Given the description of an element on the screen output the (x, y) to click on. 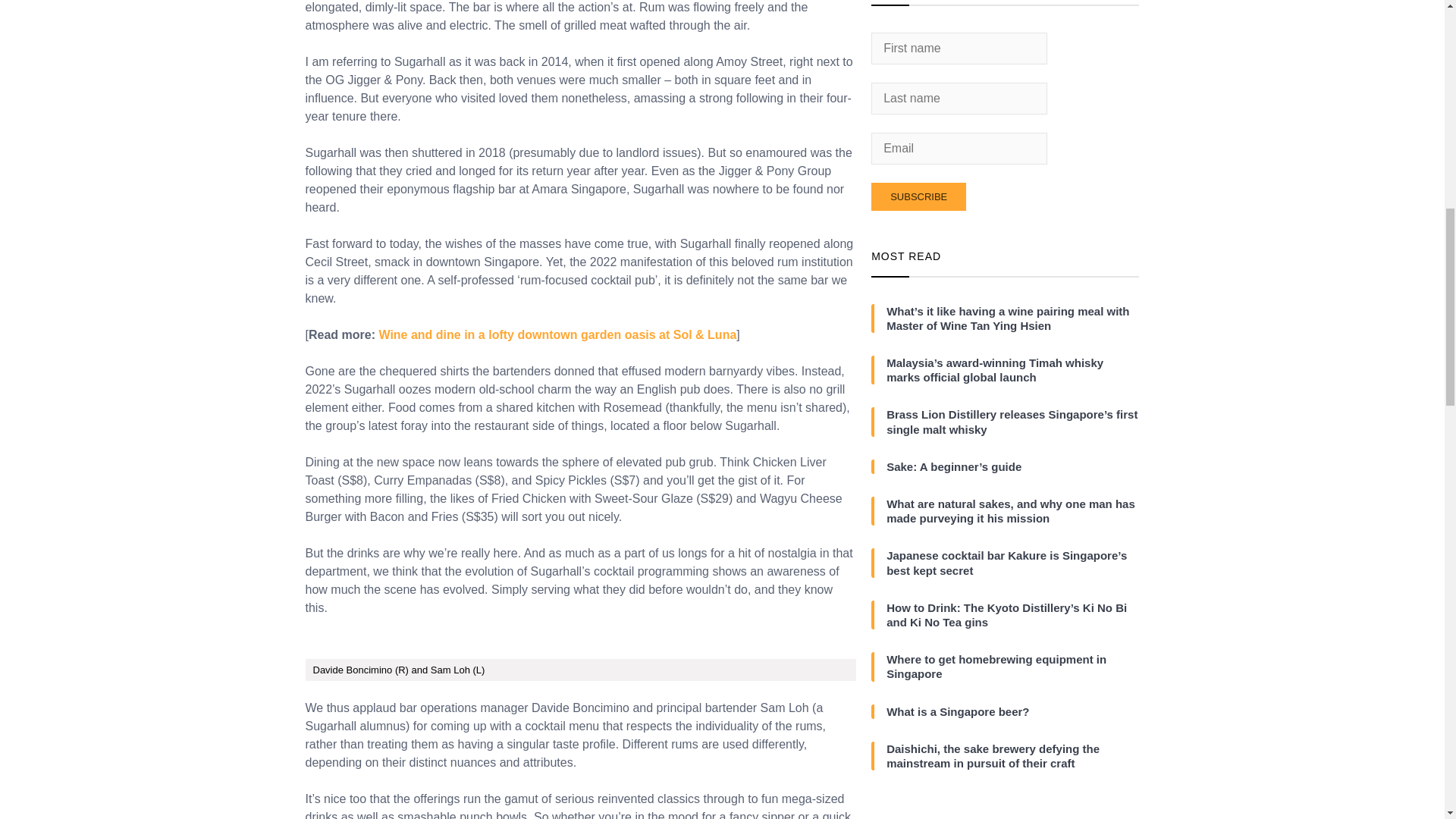
Subscribe (918, 196)
Where to get homebrewing equipment in Singapore (1012, 665)
What is a Singapore beer? (1012, 711)
Subscribe (918, 196)
